Given the description of an element on the screen output the (x, y) to click on. 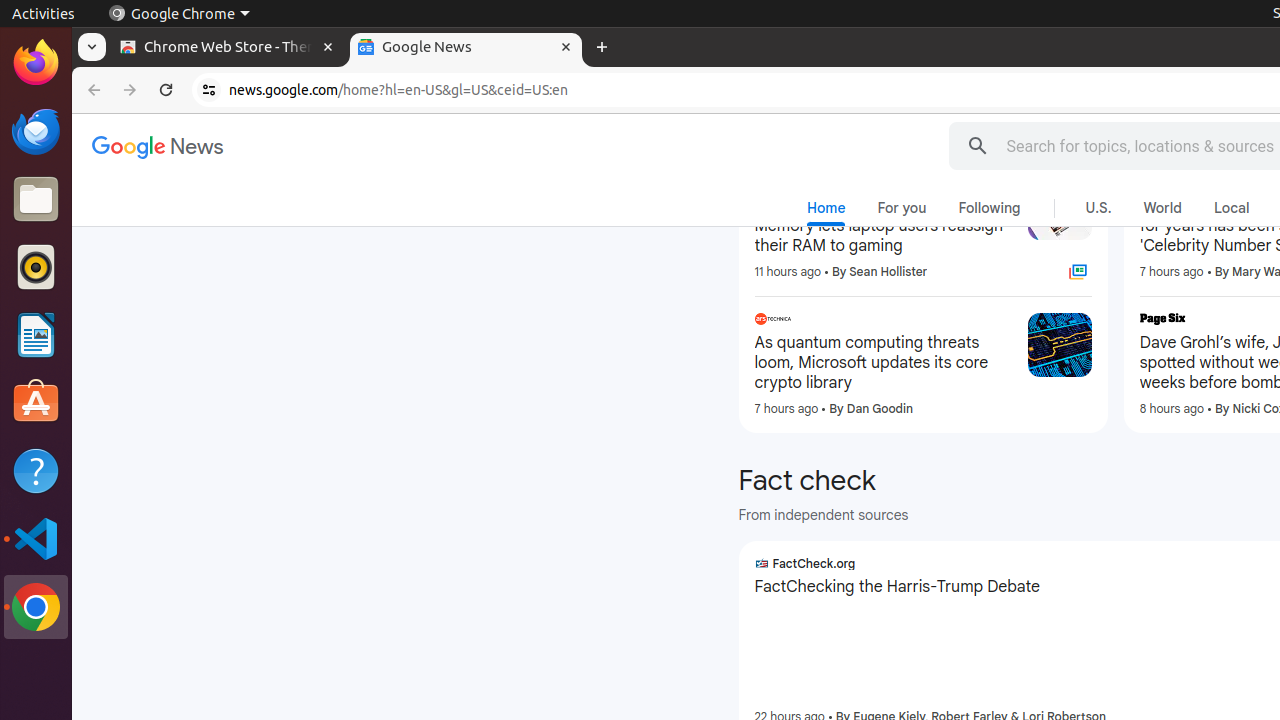
Firefox Web Browser Element type: push-button (36, 63)
Visual Studio Code Element type: push-button (36, 538)
Google News - Memory usage - 40.9 MB Element type: page-tab (466, 47)
Local Element type: menu-item (1231, 208)
For you Element type: menu-item (902, 208)
